Given the description of an element on the screen output the (x, y) to click on. 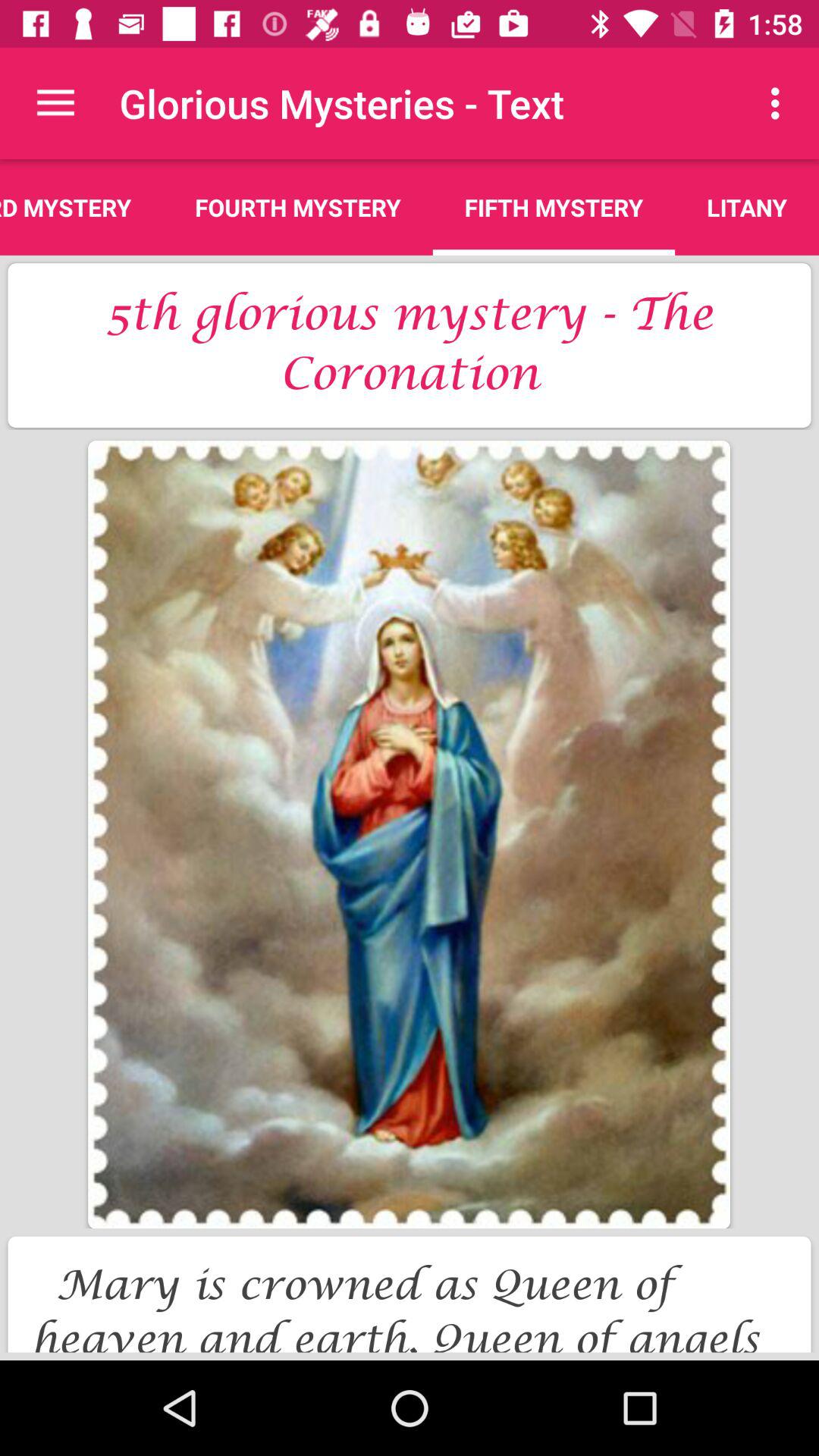
select icon to the right of the fifth mystery item (747, 207)
